Given the description of an element on the screen output the (x, y) to click on. 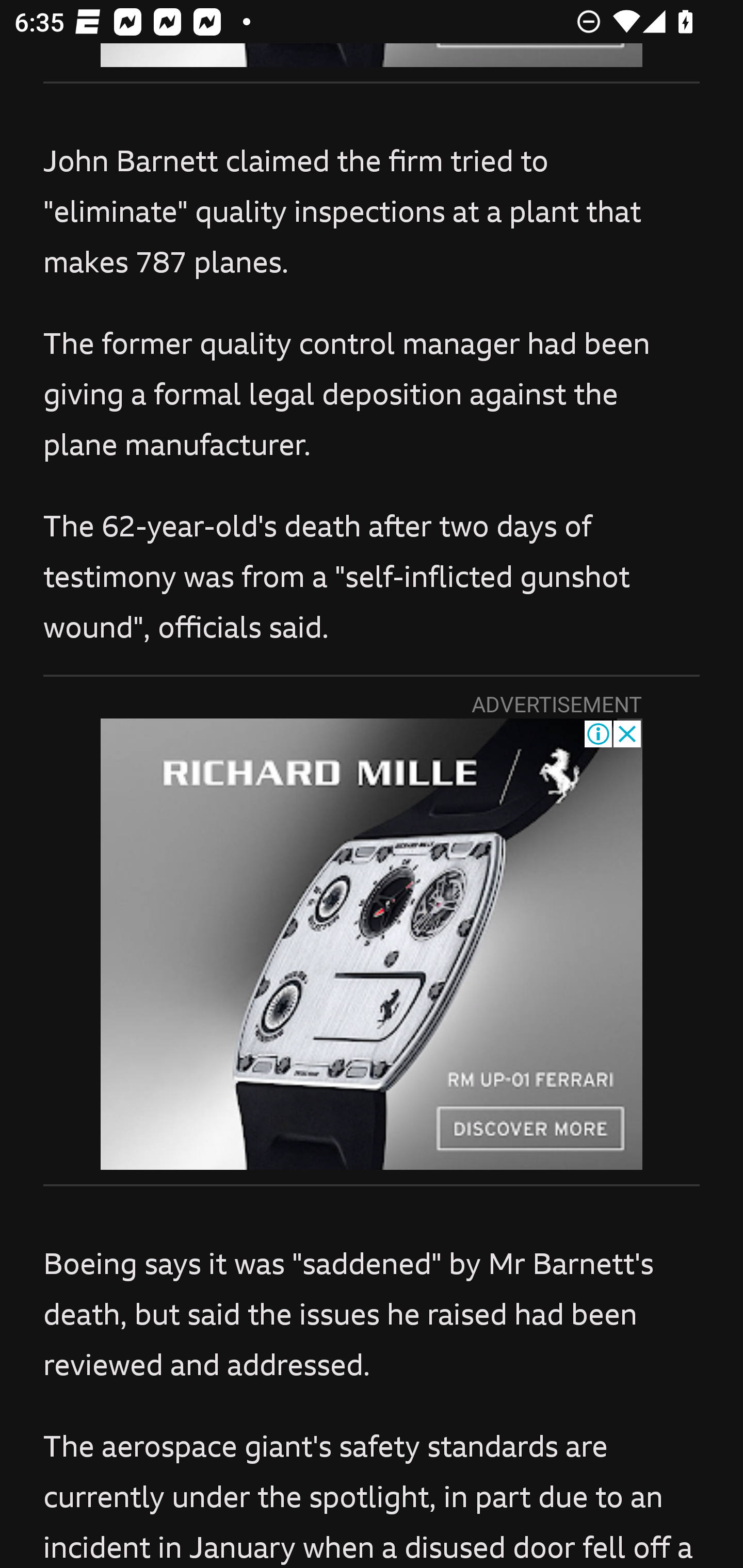
Advertisement (371, 943)
